Given the description of an element on the screen output the (x, y) to click on. 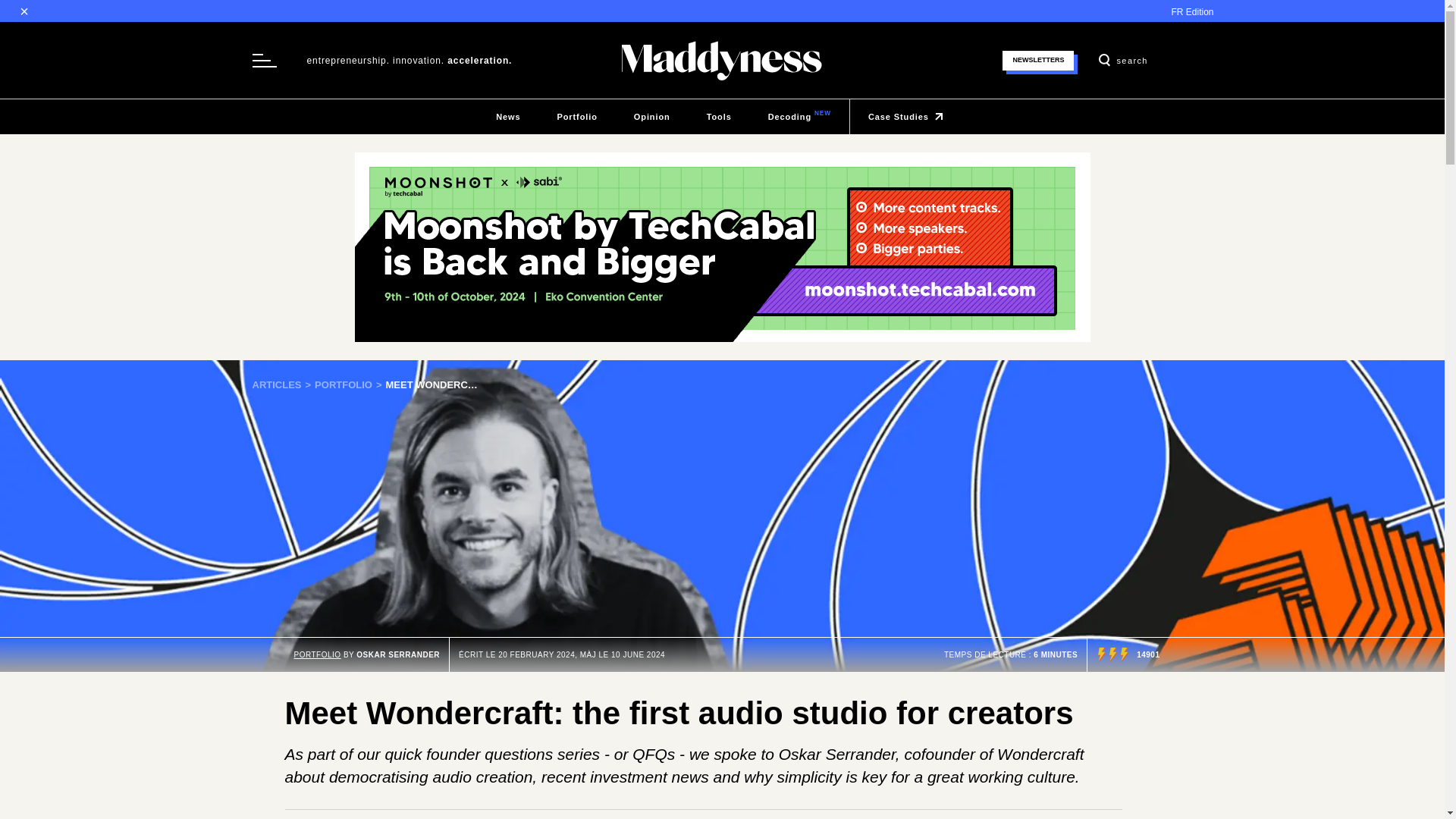
PORTFOLIO (349, 385)
Portfolio (798, 116)
Decoding (349, 385)
Portfolio (798, 116)
Case studies (576, 116)
Opinion (908, 116)
PORTFOLIO (651, 116)
Case Studies (317, 654)
News (908, 116)
ARTICLES (507, 116)
Opinion (282, 385)
Tools (651, 116)
Portfolio (718, 116)
FR Edition (576, 116)
